Given the description of an element on the screen output the (x, y) to click on. 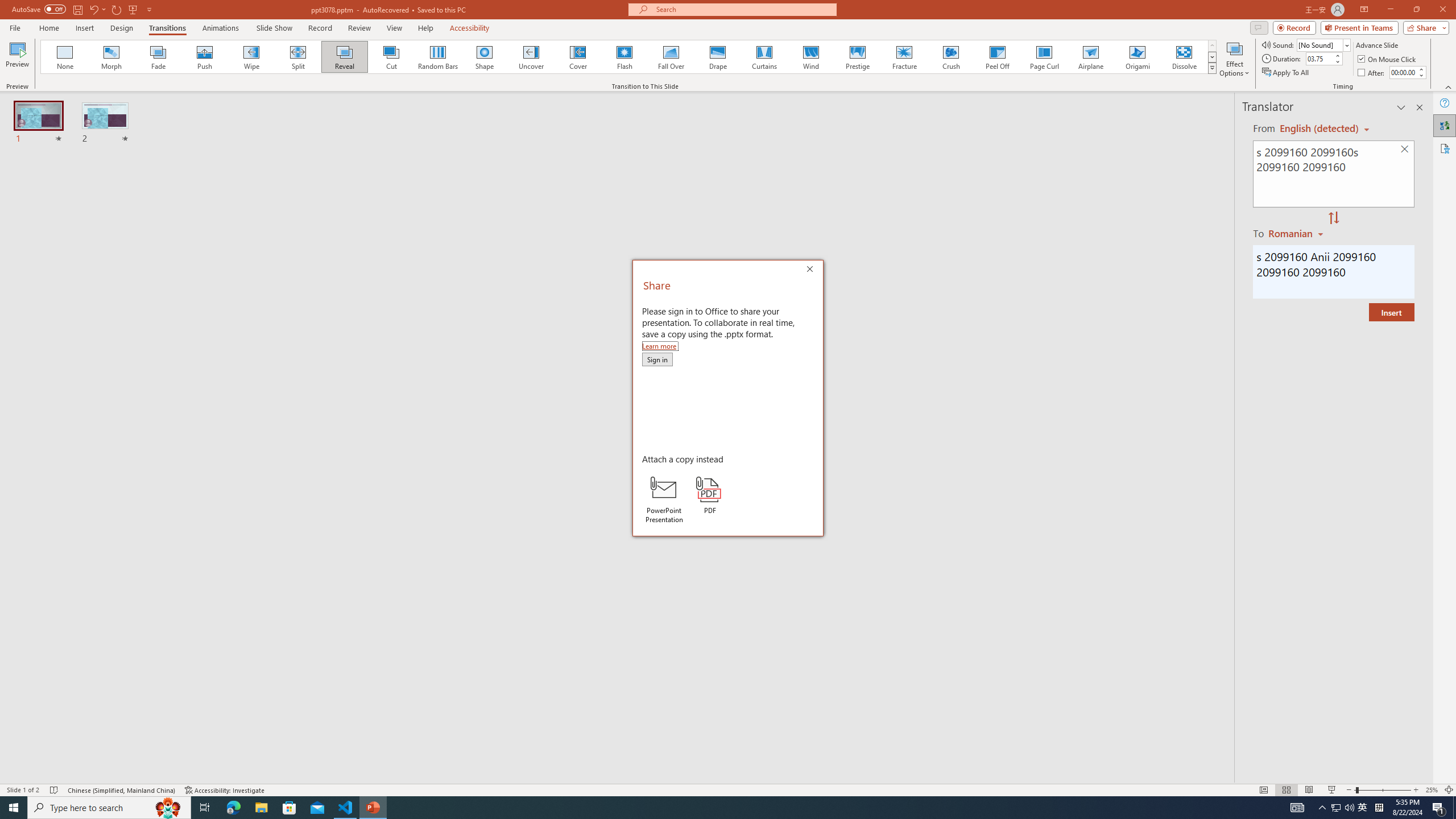
Page Curl (1043, 56)
Cover (577, 56)
Crush (950, 56)
Reveal (344, 56)
Wind (810, 56)
Random Bars (437, 56)
